Given the description of an element on the screen output the (x, y) to click on. 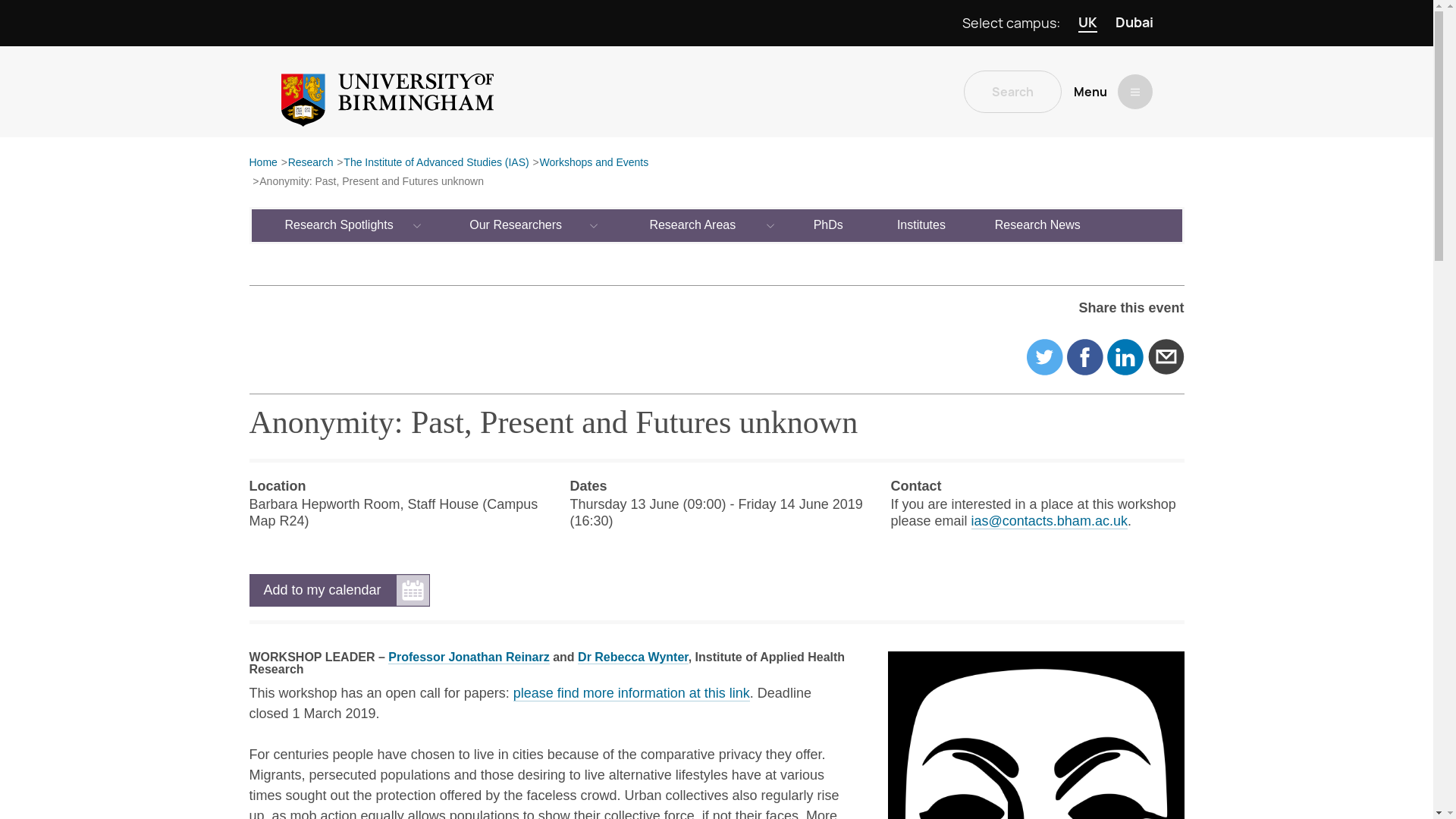
Research (310, 163)
Our Researchers (516, 224)
Research Spotlights (339, 224)
UK (1087, 23)
Research Areas (693, 224)
Home (262, 163)
Search (1012, 91)
Dubai (1134, 23)
Workshops and Events (592, 163)
Anonymity: Past, Present and Futures unknown (371, 182)
